Given the description of an element on the screen output the (x, y) to click on. 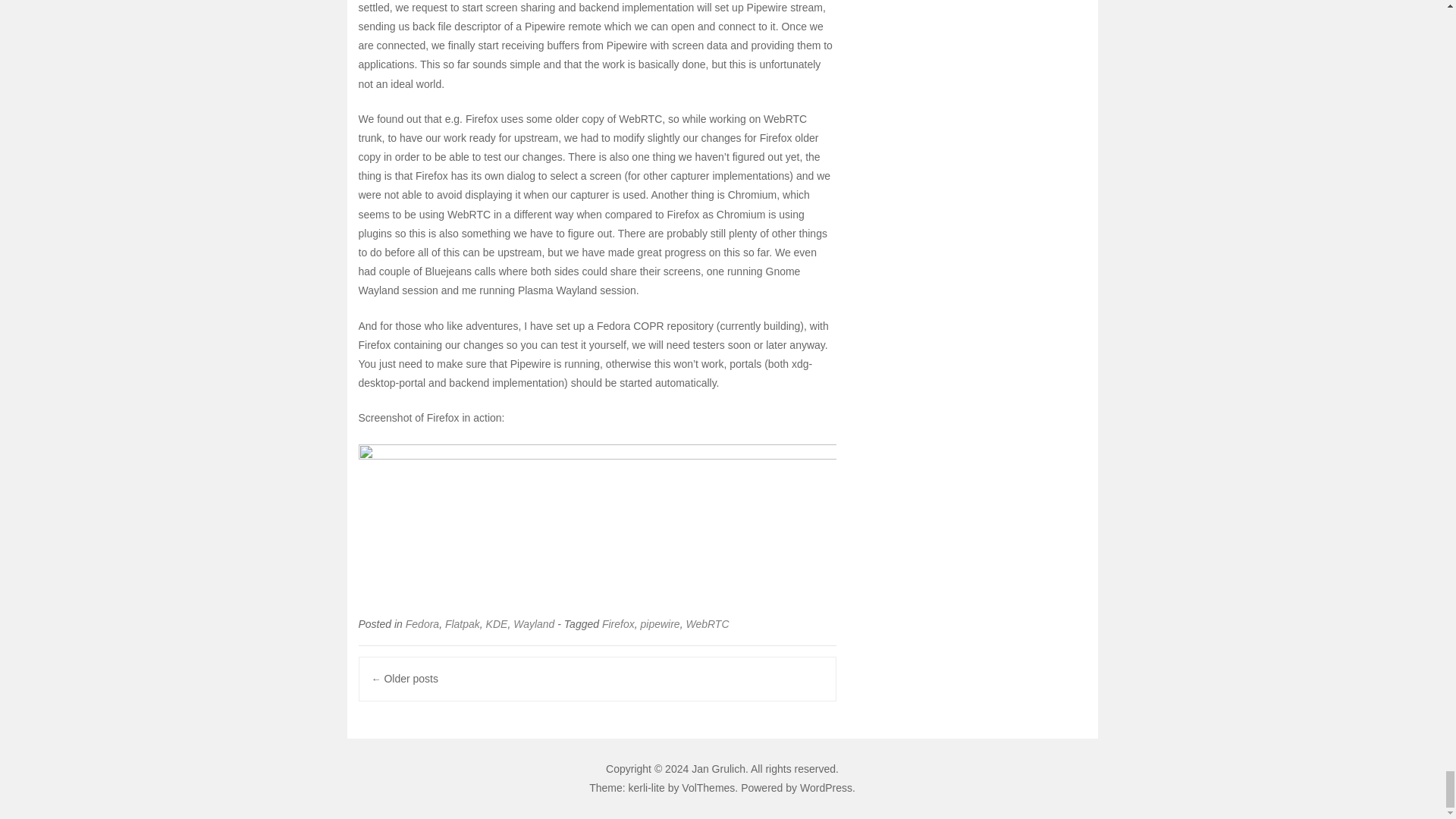
WordPress (825, 787)
VolThemes (708, 787)
Jan Grulich (718, 768)
